Given the description of an element on the screen output the (x, y) to click on. 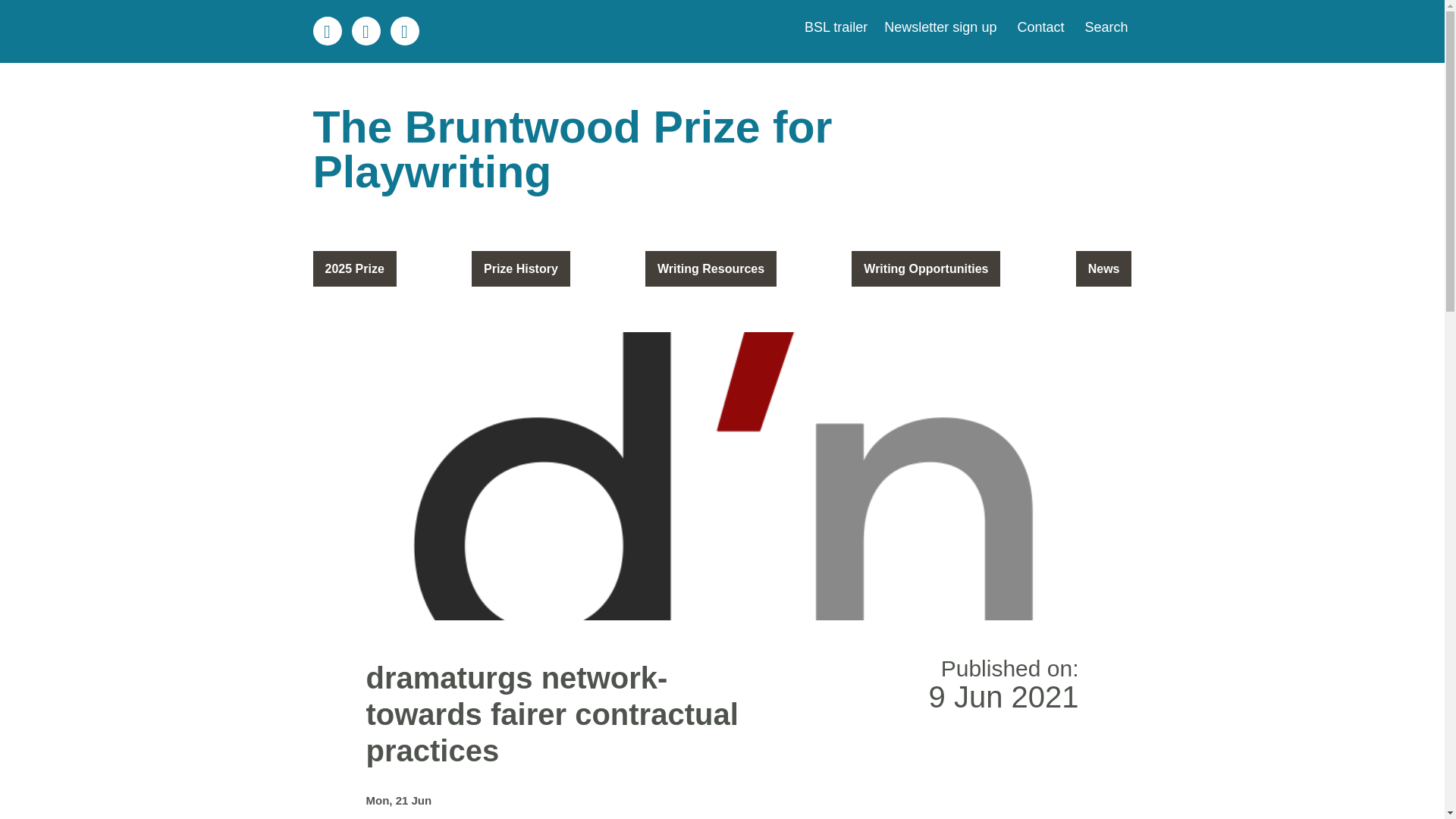
2025 Prize (354, 268)
Prize History (520, 268)
Share on Facebook (404, 30)
Share on Twitter (366, 30)
Search (1103, 27)
News (1103, 268)
Writing Resources (710, 268)
BSL trailer (836, 27)
Share this page (326, 30)
Writing Opportunities (925, 268)
